Given the description of an element on the screen output the (x, y) to click on. 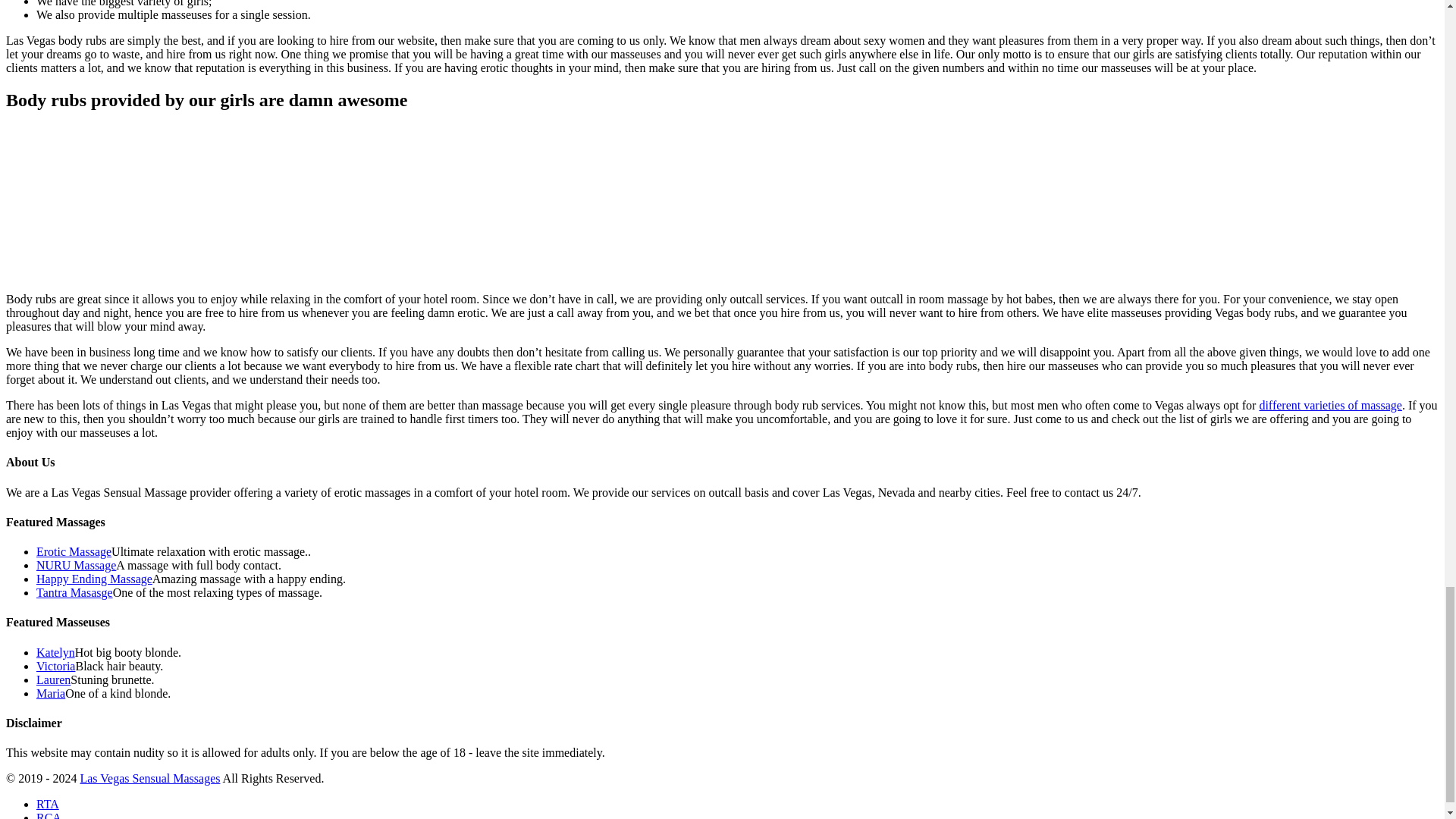
NURU Massage (76, 564)
Erotic Massage (74, 551)
different varieties of massage (1330, 404)
